Given the description of an element on the screen output the (x, y) to click on. 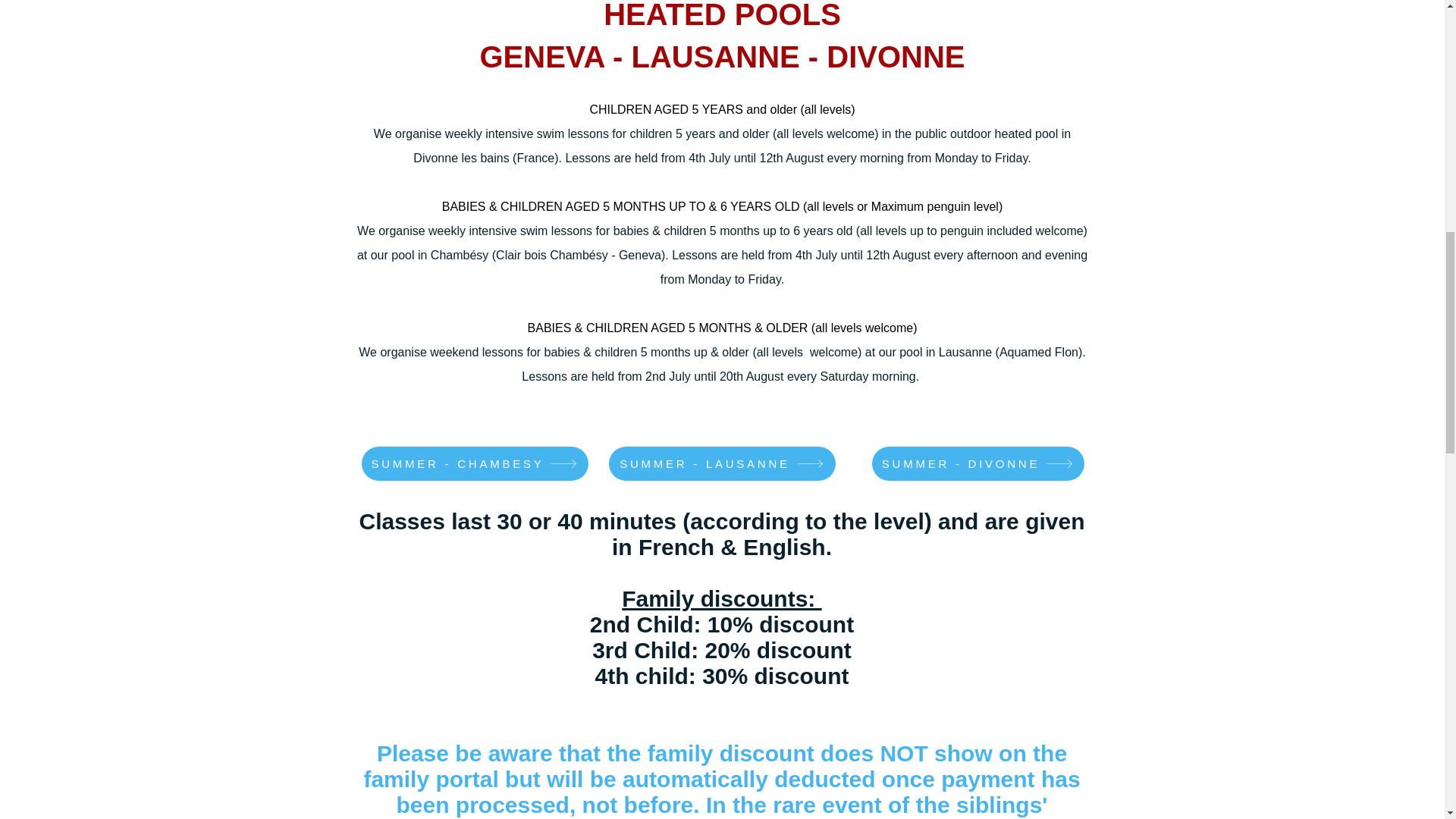
SUMMER - CHAMBESY (474, 463)
SUMMER - LAUSANNE (721, 463)
SUMMER - DIVONNE (978, 463)
